Given the description of an element on the screen output the (x, y) to click on. 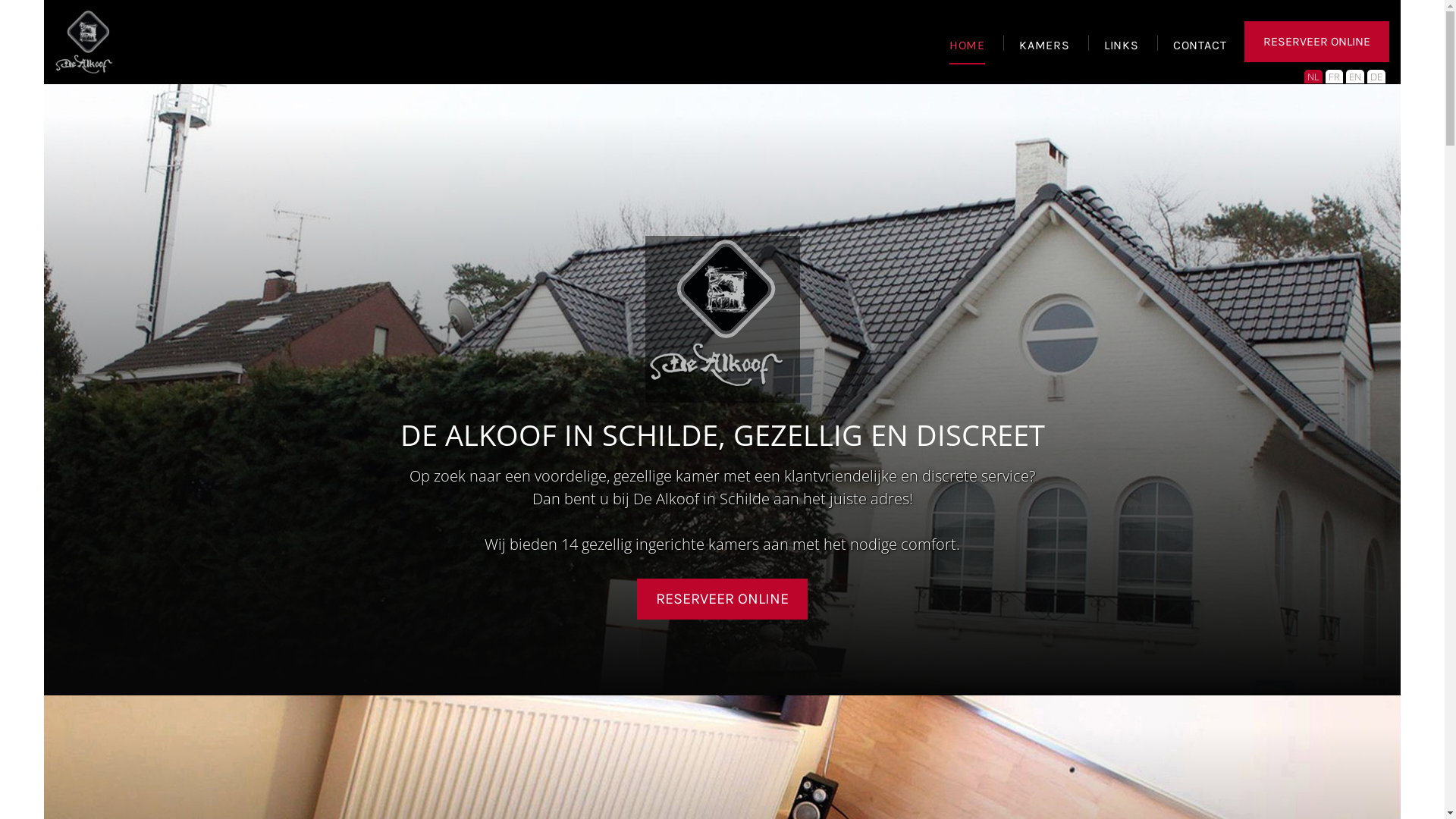
EN Element type: text (1355, 76)
HOME Element type: text (967, 50)
DE Element type: text (1376, 76)
RESERVEER ONLINE Element type: text (1316, 41)
LINKS Element type: text (1121, 50)
CONTACT Element type: text (1199, 50)
RESERVEER ONLINE Element type: text (722, 598)
FR Element type: text (1334, 76)
NL Element type: text (1313, 76)
KAMERS Element type: text (1044, 50)
